Given the description of an element on the screen output the (x, y) to click on. 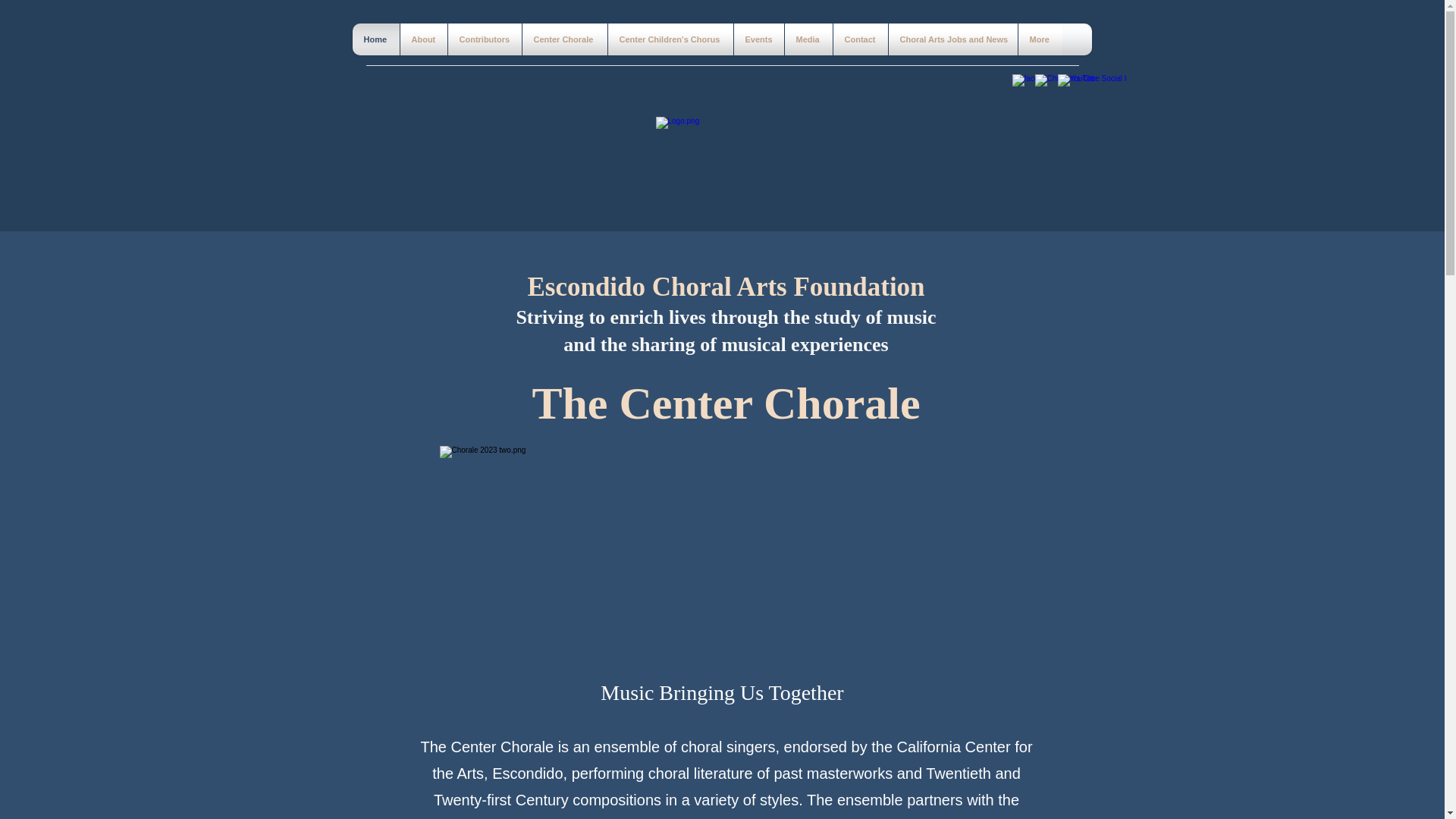
Media (808, 39)
Escondido Choral Arts Foundation (725, 286)
Events (757, 39)
Contributors (484, 39)
Choral Arts Jobs and News (952, 39)
Contact (860, 39)
Home (376, 39)
